Given the description of an element on the screen output the (x, y) to click on. 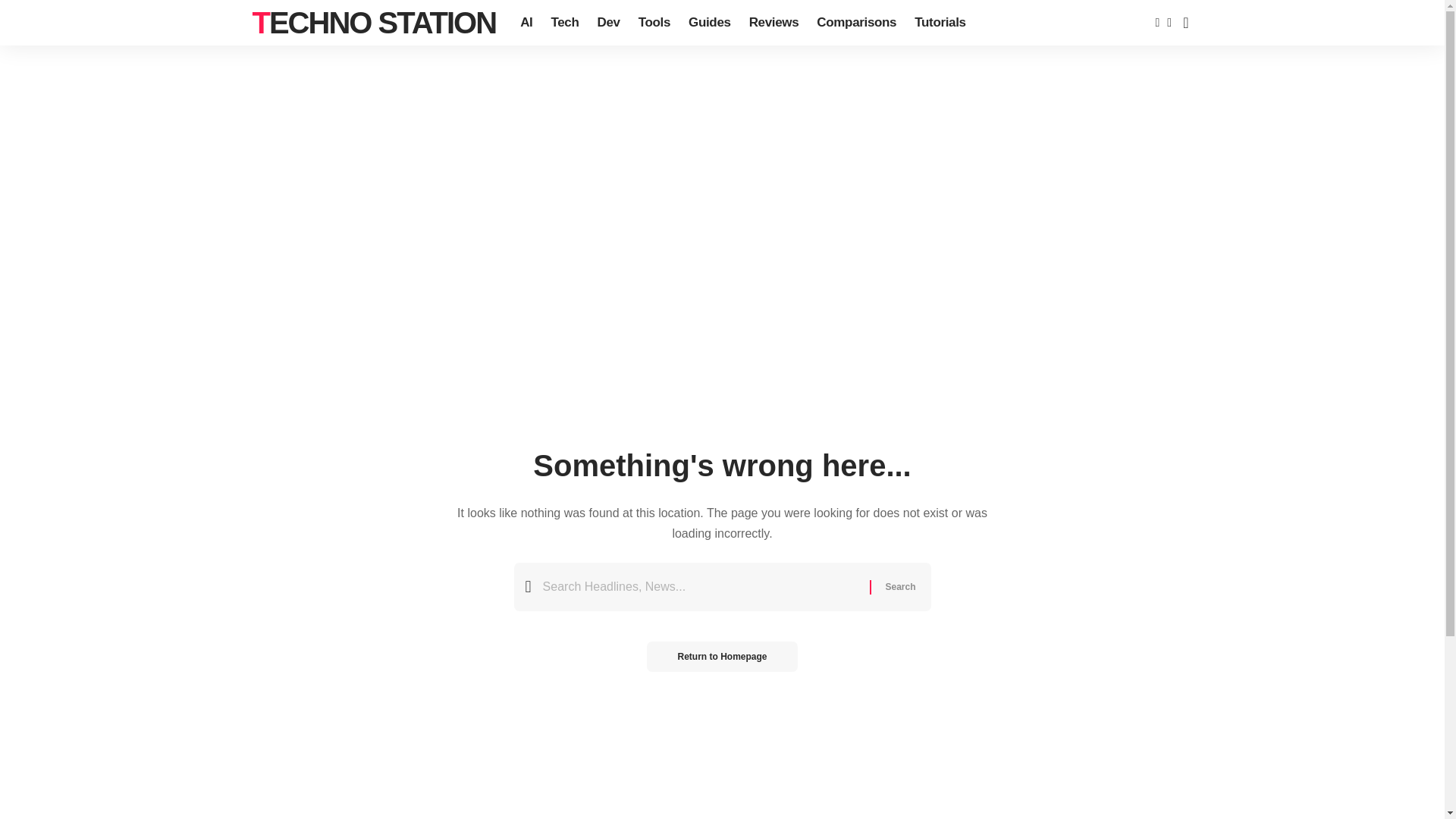
Reviews (773, 22)
Search (899, 586)
Tech (564, 22)
Comparisons (856, 22)
Search (899, 586)
Guides (709, 22)
Techno Station (373, 22)
Dev (608, 22)
TECHNO STATION (373, 22)
Tutorials (939, 22)
Tools (653, 22)
Return to Homepage (721, 656)
